Given the description of an element on the screen output the (x, y) to click on. 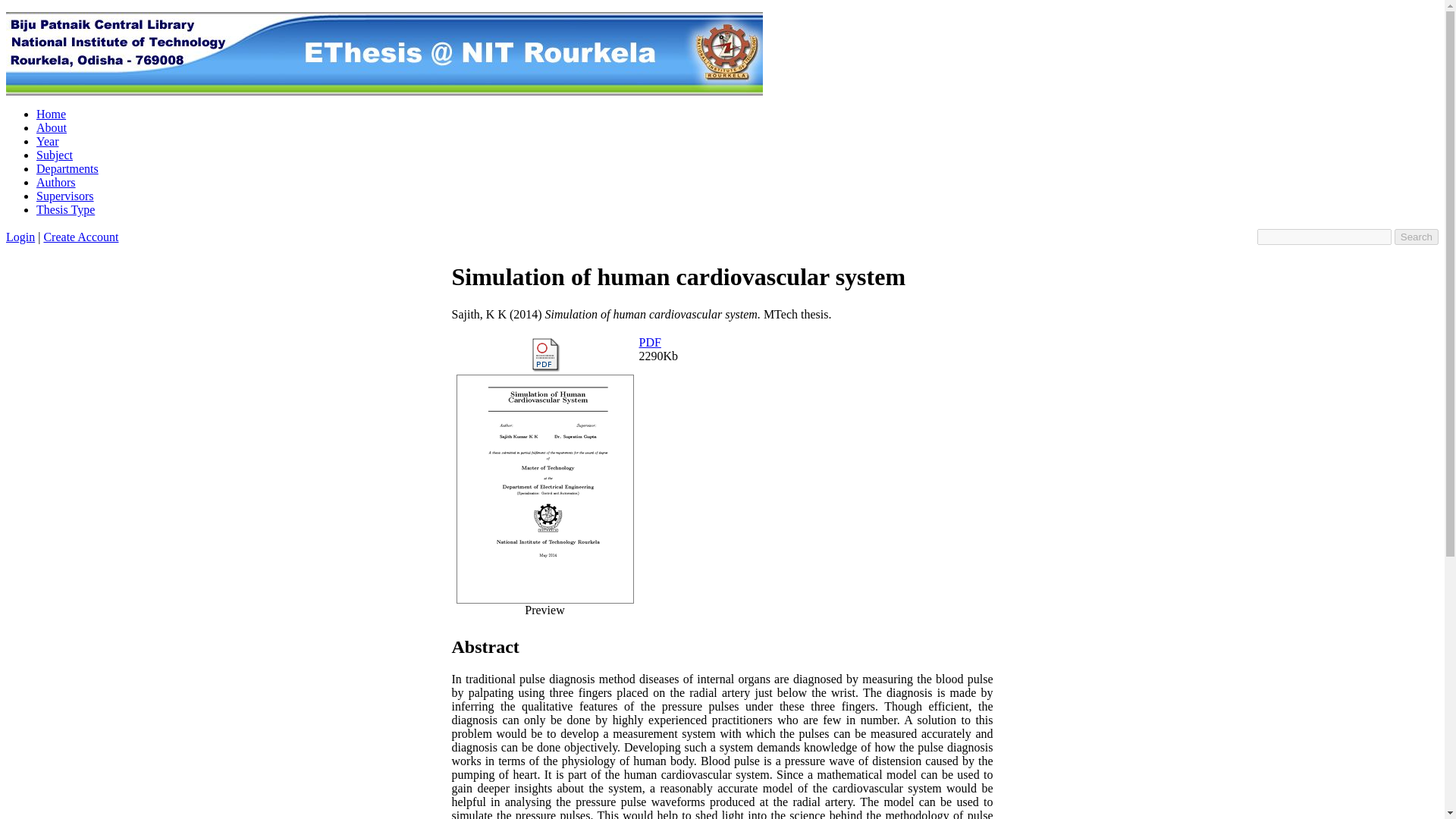
Home (50, 113)
Subject (54, 154)
Login (19, 236)
Thesis Type (65, 209)
Create Account (80, 236)
Authors (55, 182)
Supervisors (65, 195)
About (51, 127)
Departments (67, 168)
Year (47, 141)
